Given the description of an element on the screen output the (x, y) to click on. 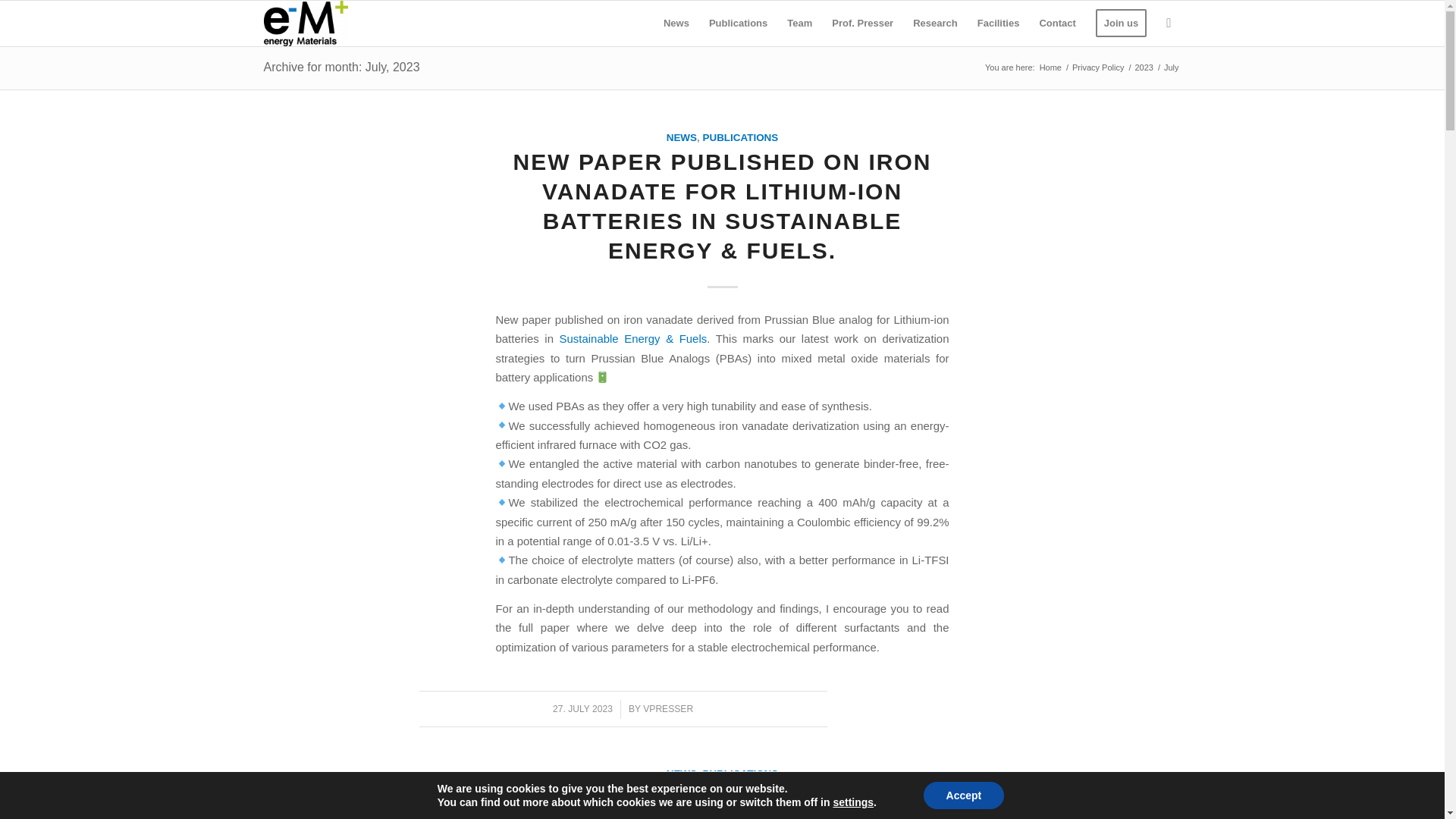
NEWS (681, 773)
Presser Group (1050, 67)
2023 (1143, 67)
Facilities (998, 22)
Research (935, 22)
Publications (737, 22)
Home (1050, 67)
NEWS (681, 137)
Join us (1121, 22)
PUBLICATIONS (739, 773)
Privacy Policy (1097, 67)
Privacy Policy (1097, 67)
Posts by vpresser (668, 708)
